Given the description of an element on the screen output the (x, y) to click on. 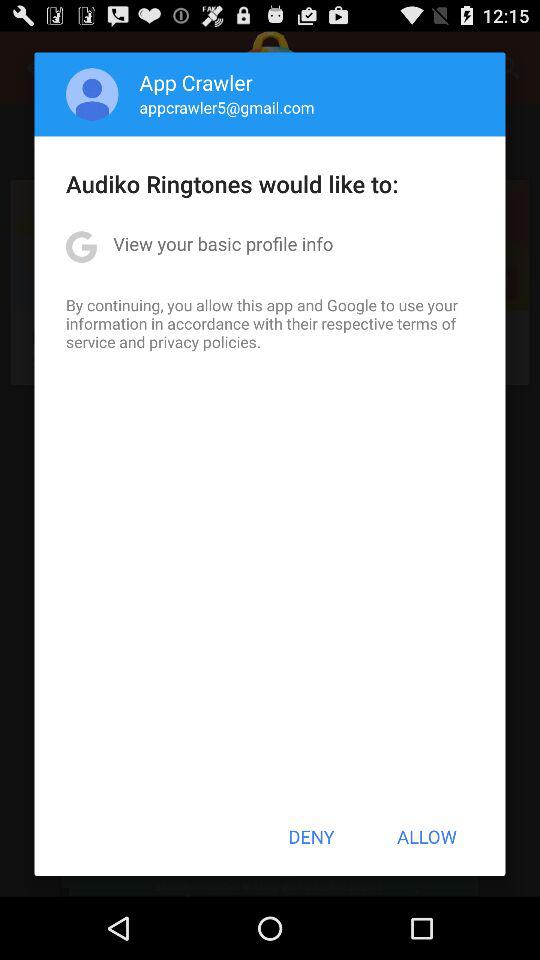
click the app below by continuing you item (311, 836)
